Given the description of an element on the screen output the (x, y) to click on. 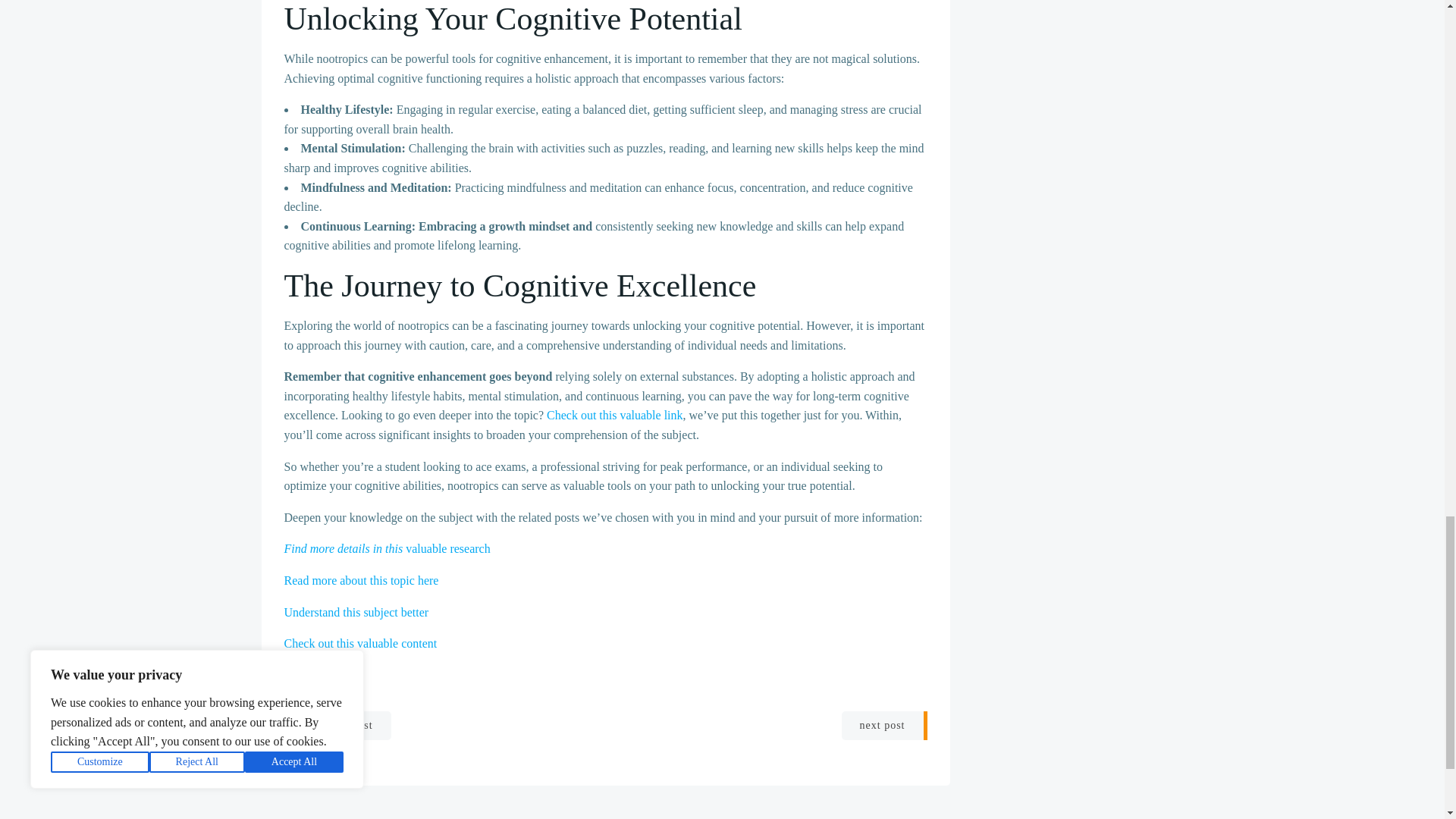
Read more about this topic here (360, 580)
next post (884, 725)
previous post (336, 725)
Check out this valuable content (359, 643)
Check out this valuable link (614, 414)
Find more details in this valuable research (386, 548)
Understand this subject better (355, 611)
